Given the description of an element on the screen output the (x, y) to click on. 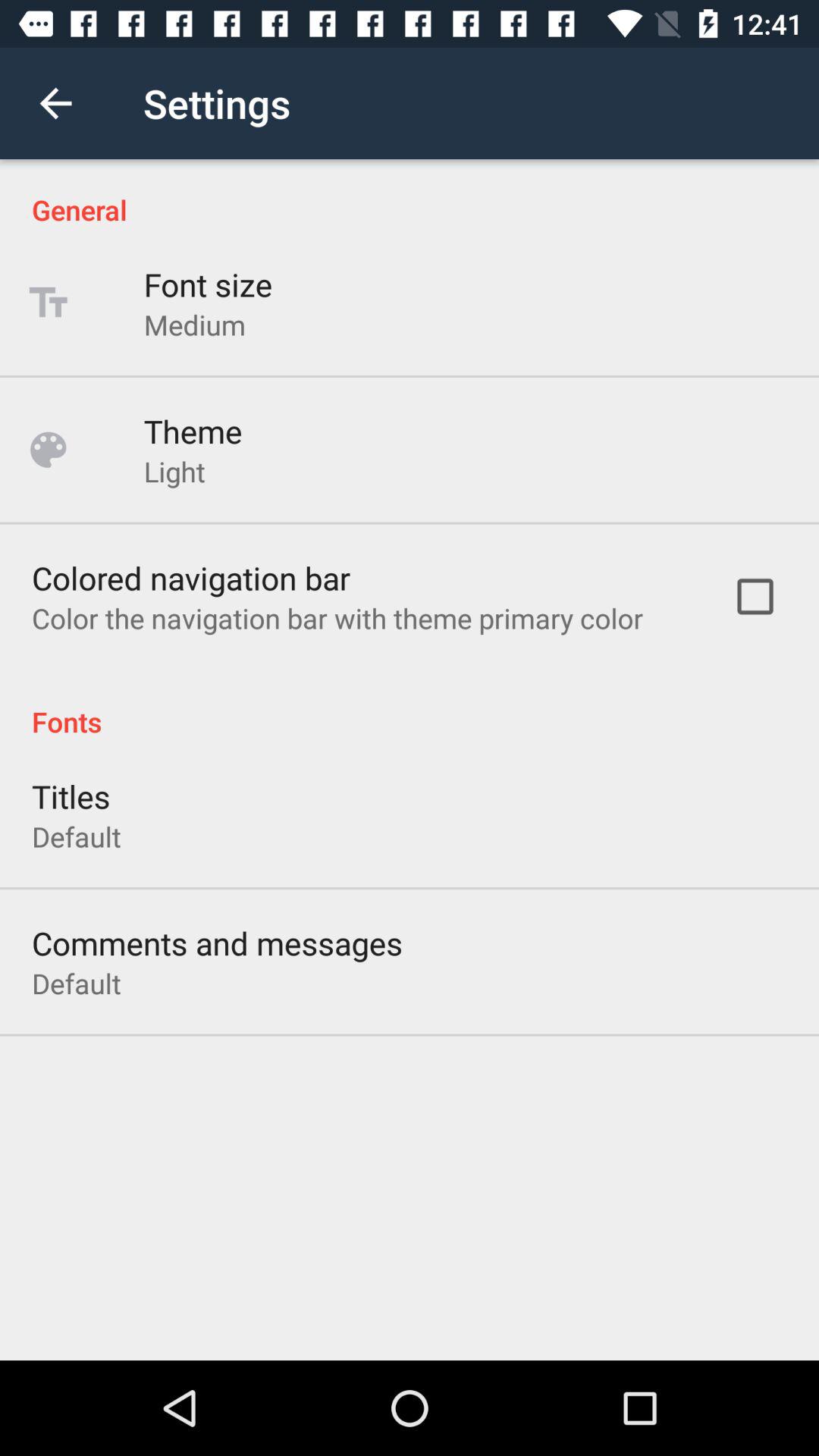
jump until the general (409, 193)
